Given the description of an element on the screen output the (x, y) to click on. 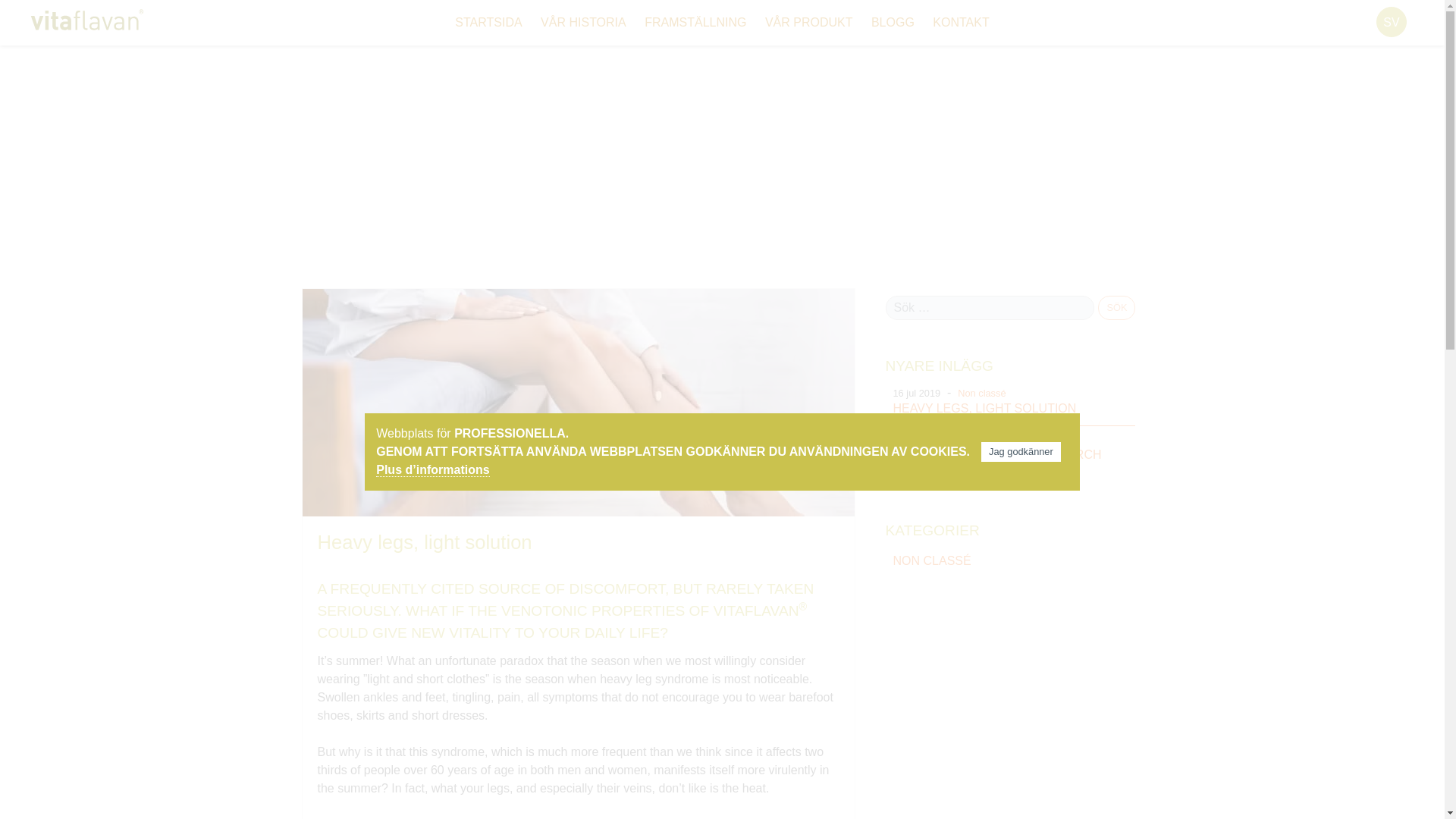
HEAVY LEGS, LIGHT SOLUTION (1014, 408)
BLOGG (580, 232)
STARTSIDA (487, 21)
KONTAKT (960, 21)
LATEST FUNDAMENTAL RESEARCH PUBLISHED ON NATURE.COM (1014, 461)
BLOGG (892, 21)
